Given the description of an element on the screen output the (x, y) to click on. 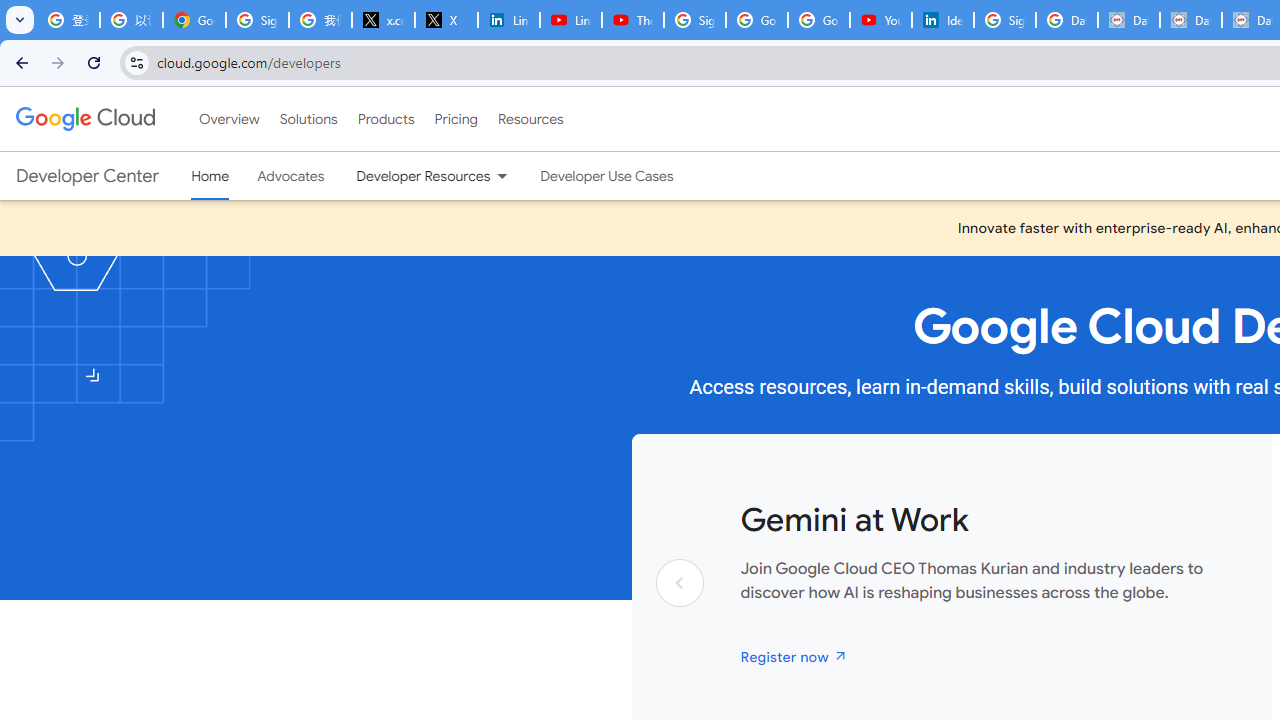
Sign in - Google Accounts (257, 20)
Data Privacy Framework (1128, 20)
Register now (793, 656)
Home, selected (210, 175)
Developer Center (87, 175)
Pricing (455, 119)
